Given the description of an element on the screen output the (x, y) to click on. 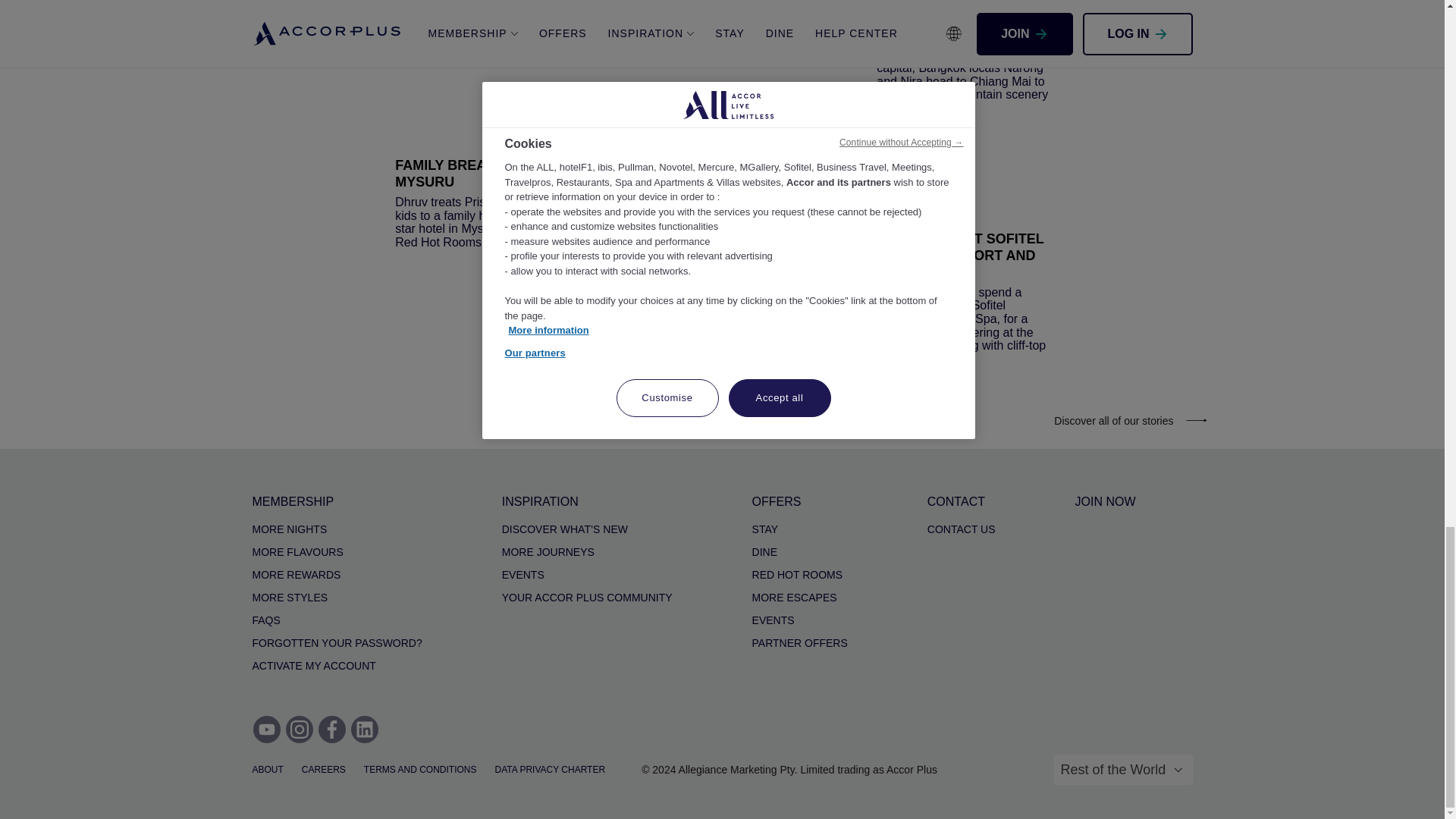
this field is required (1123, 769)
